Given the description of an element on the screen output the (x, y) to click on. 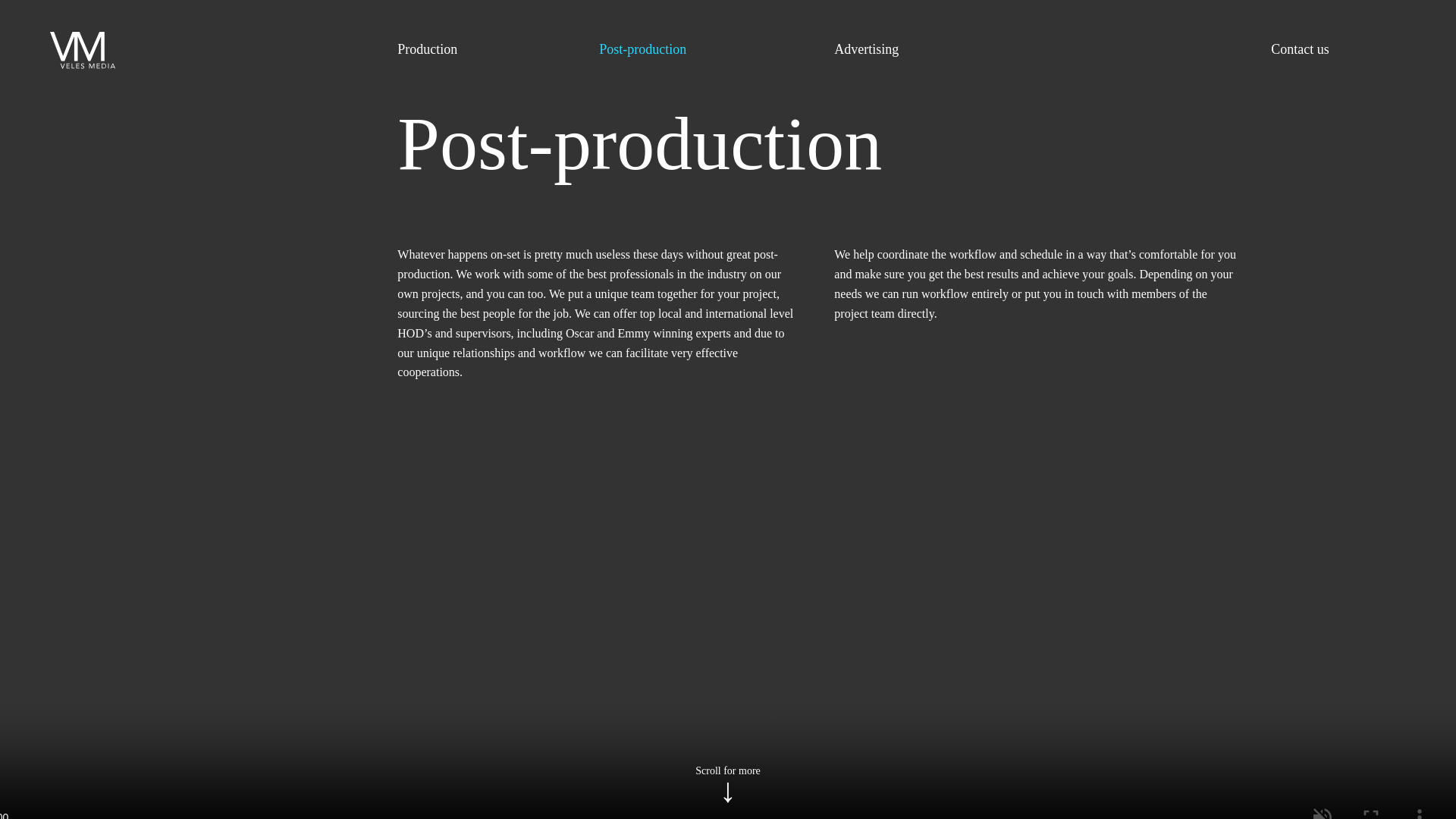
Production (427, 50)
Contact us (1300, 50)
Post-production (641, 50)
Advertising (866, 50)
